Given the description of an element on the screen output the (x, y) to click on. 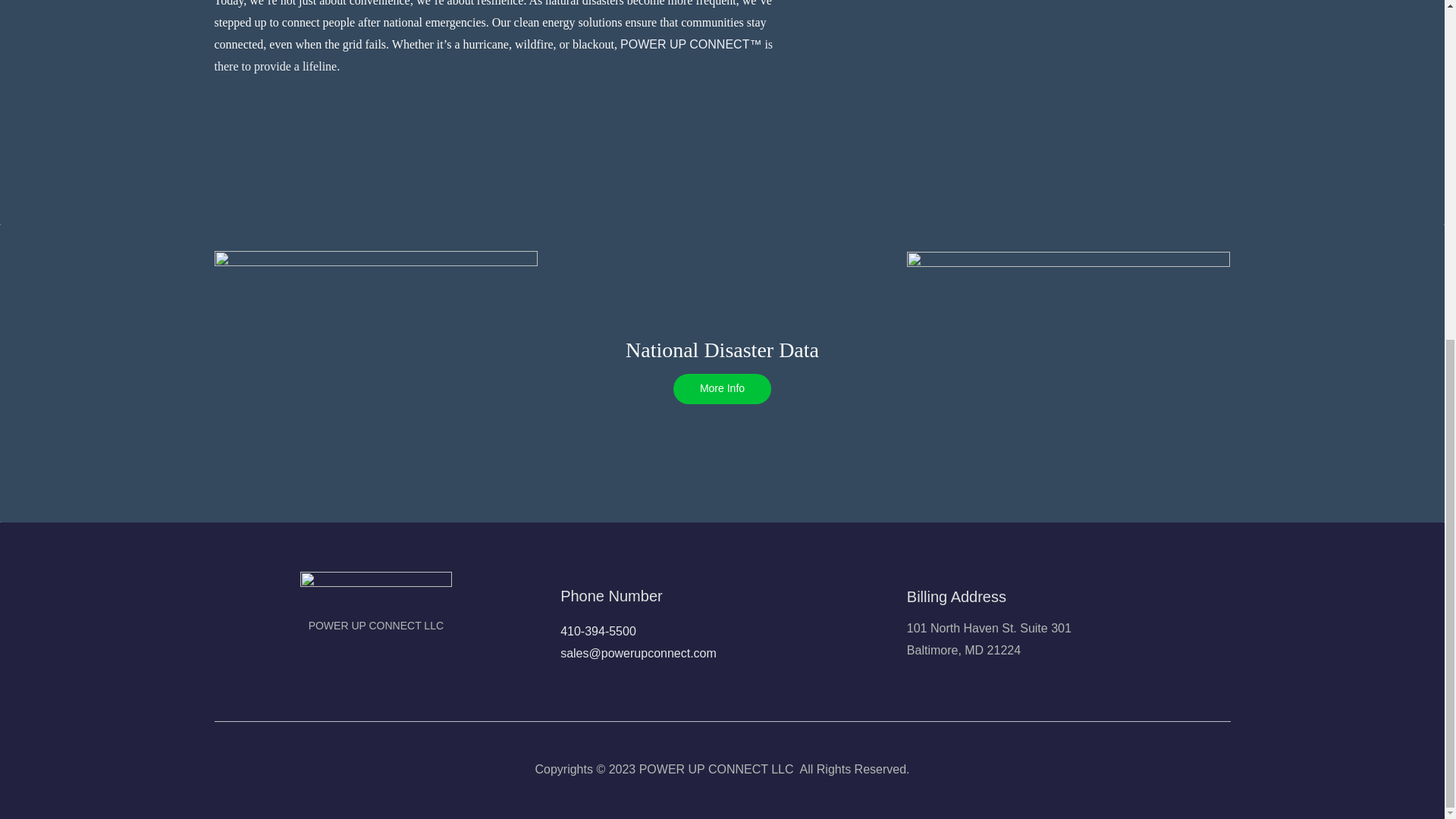
410-394-5500 (598, 631)
More Info (721, 388)
